Given the description of an element on the screen output the (x, y) to click on. 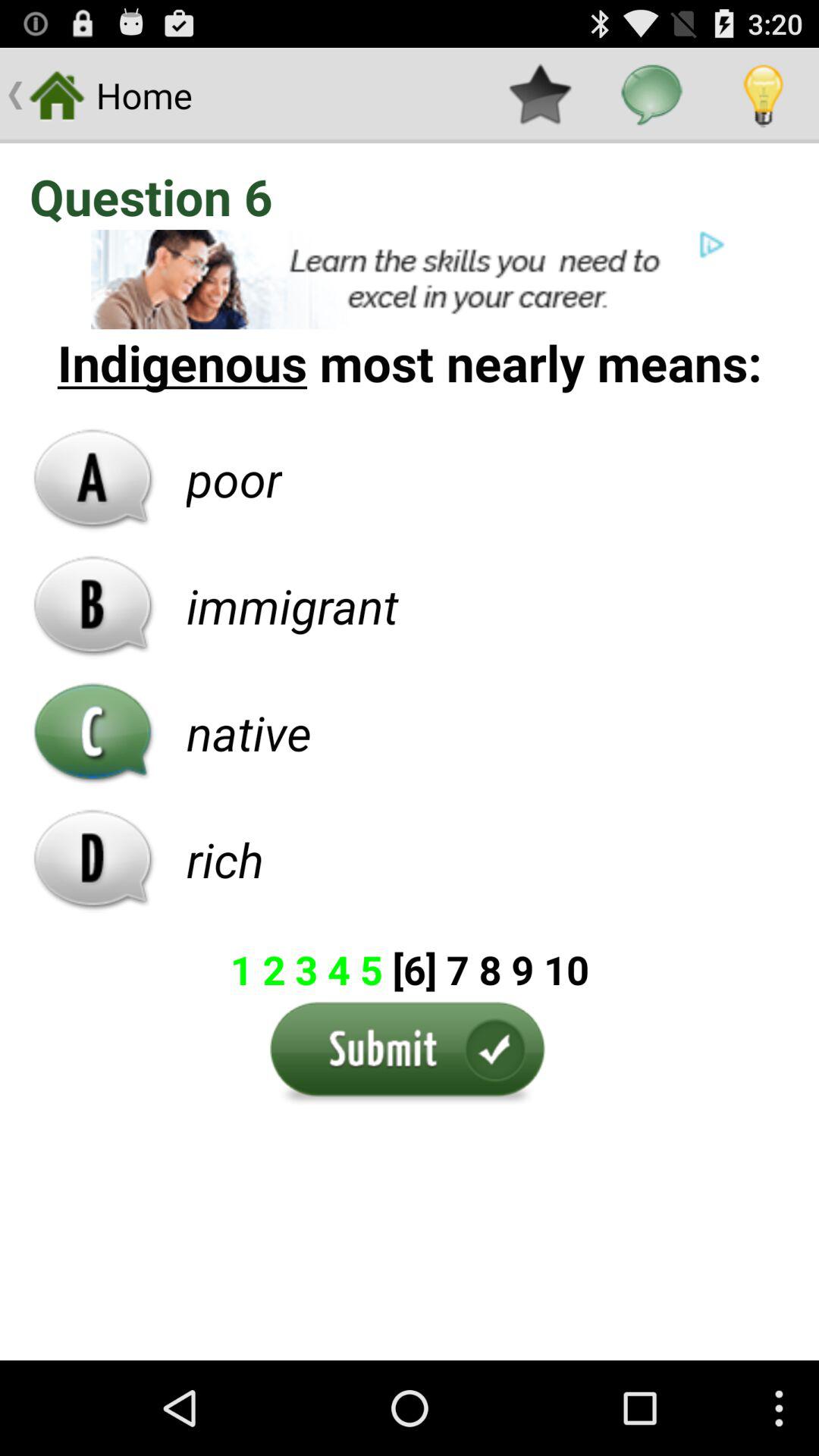
pop-up advertisement (409, 279)
